Given the description of an element on the screen output the (x, y) to click on. 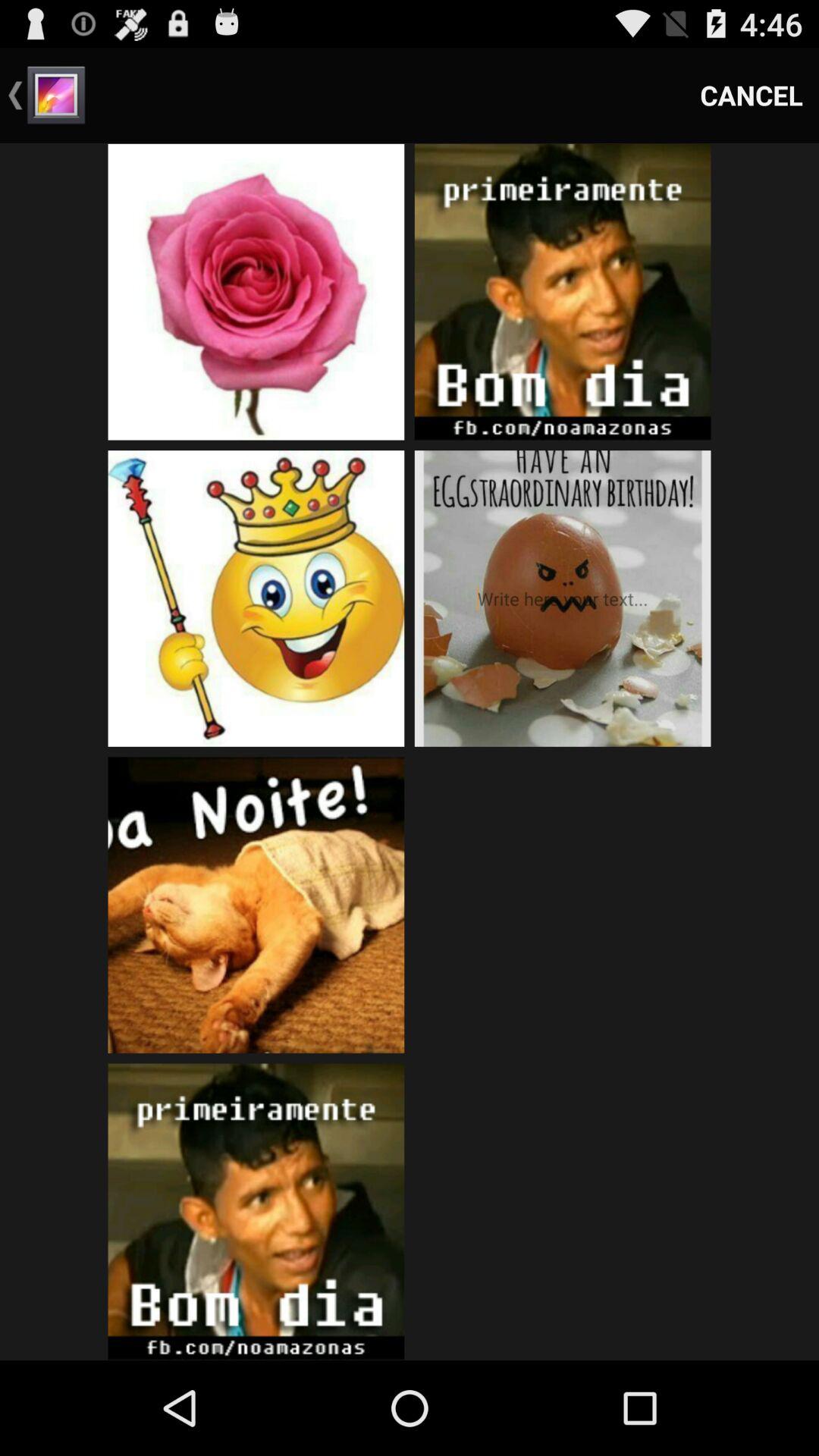
click the cancel item (751, 95)
